Given the description of an element on the screen output the (x, y) to click on. 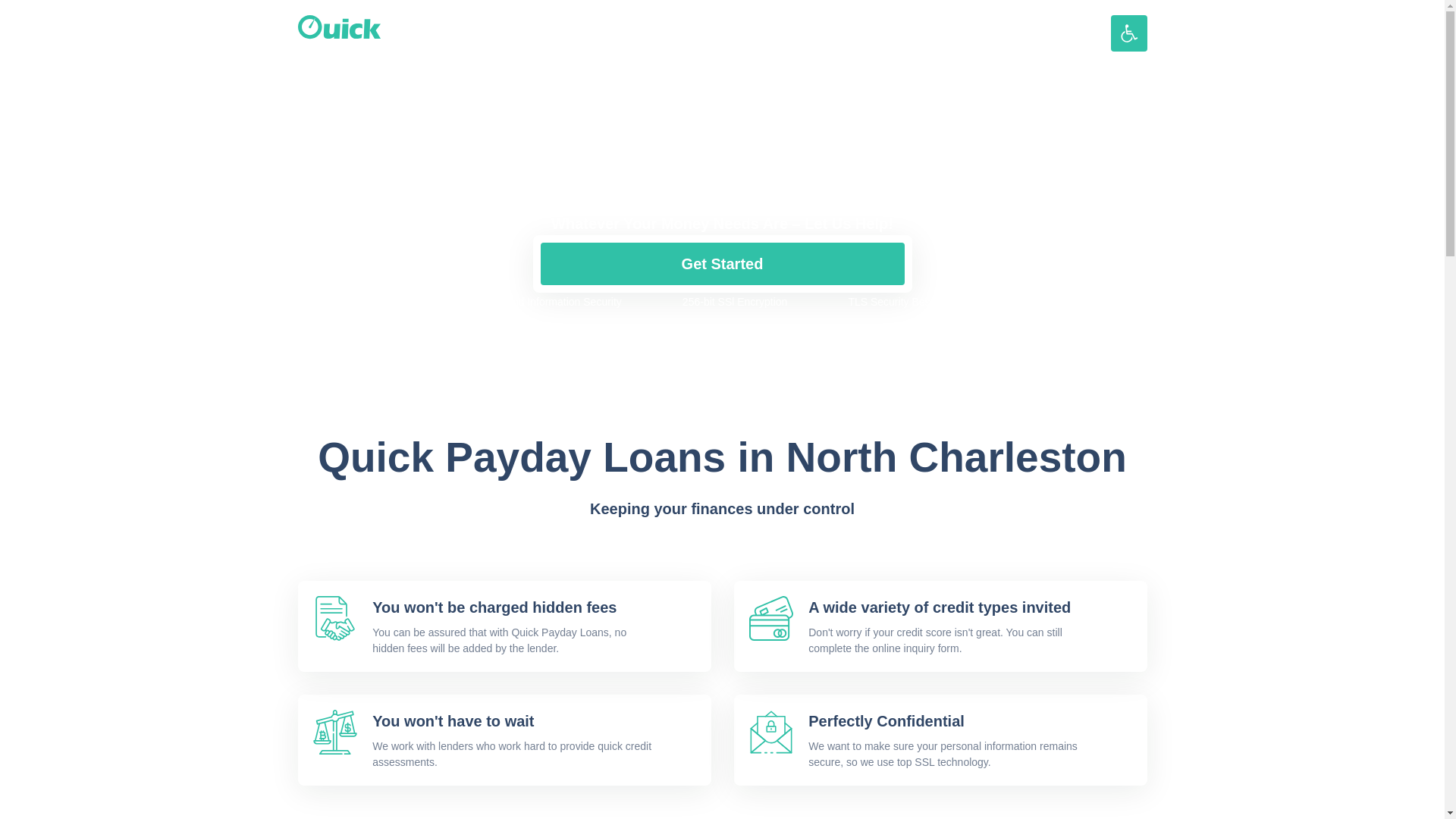
Get Started (722, 263)
